Given the description of an element on the screen output the (x, y) to click on. 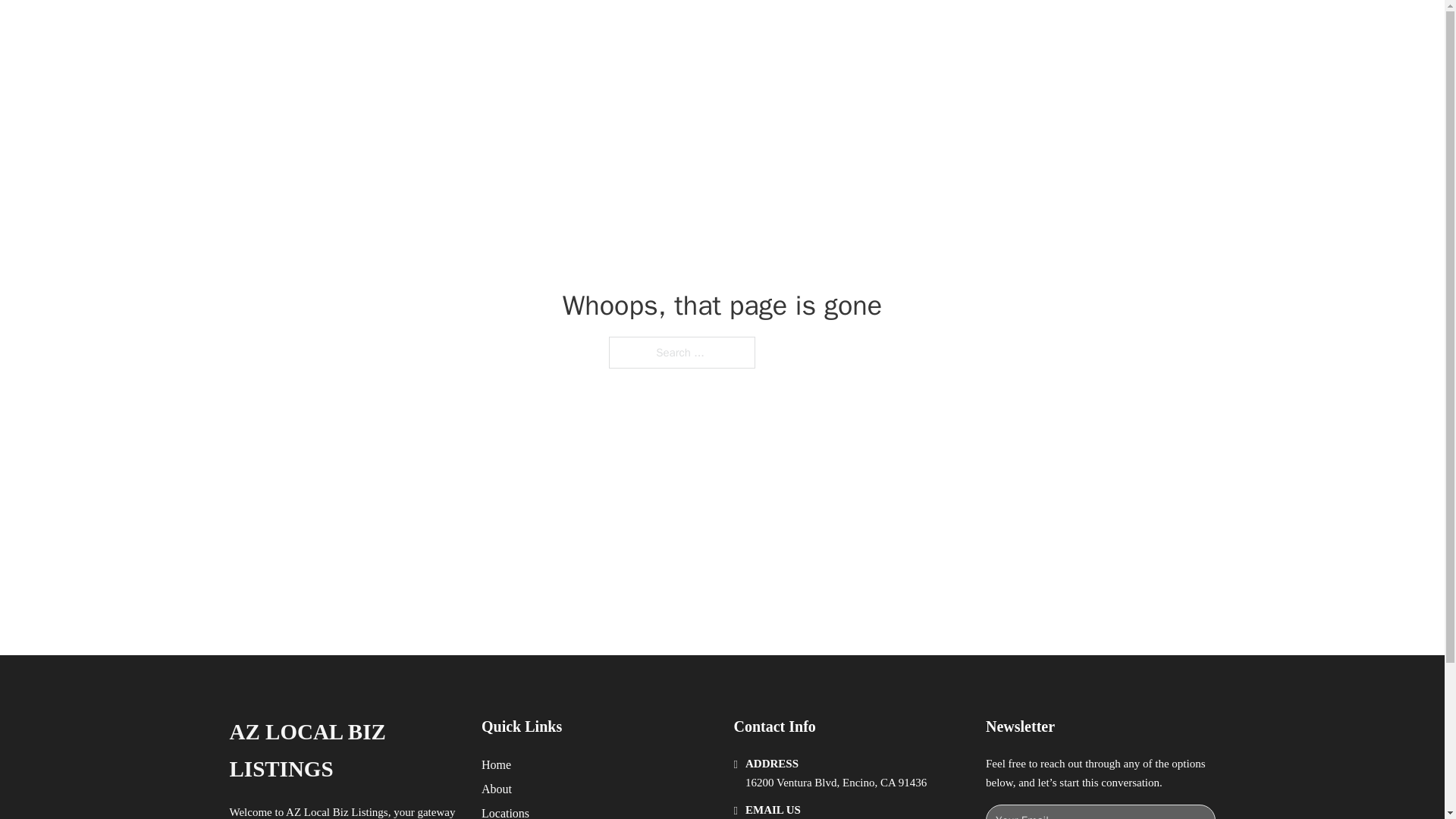
About (496, 788)
Locations (505, 811)
AZ LOCAL BIZ LISTINGS (343, 750)
HOME (919, 29)
Home (496, 764)
AZ LOCAL BIZ LISTINGS (425, 28)
LOCATIONS (990, 29)
